Given the description of an element on the screen output the (x, y) to click on. 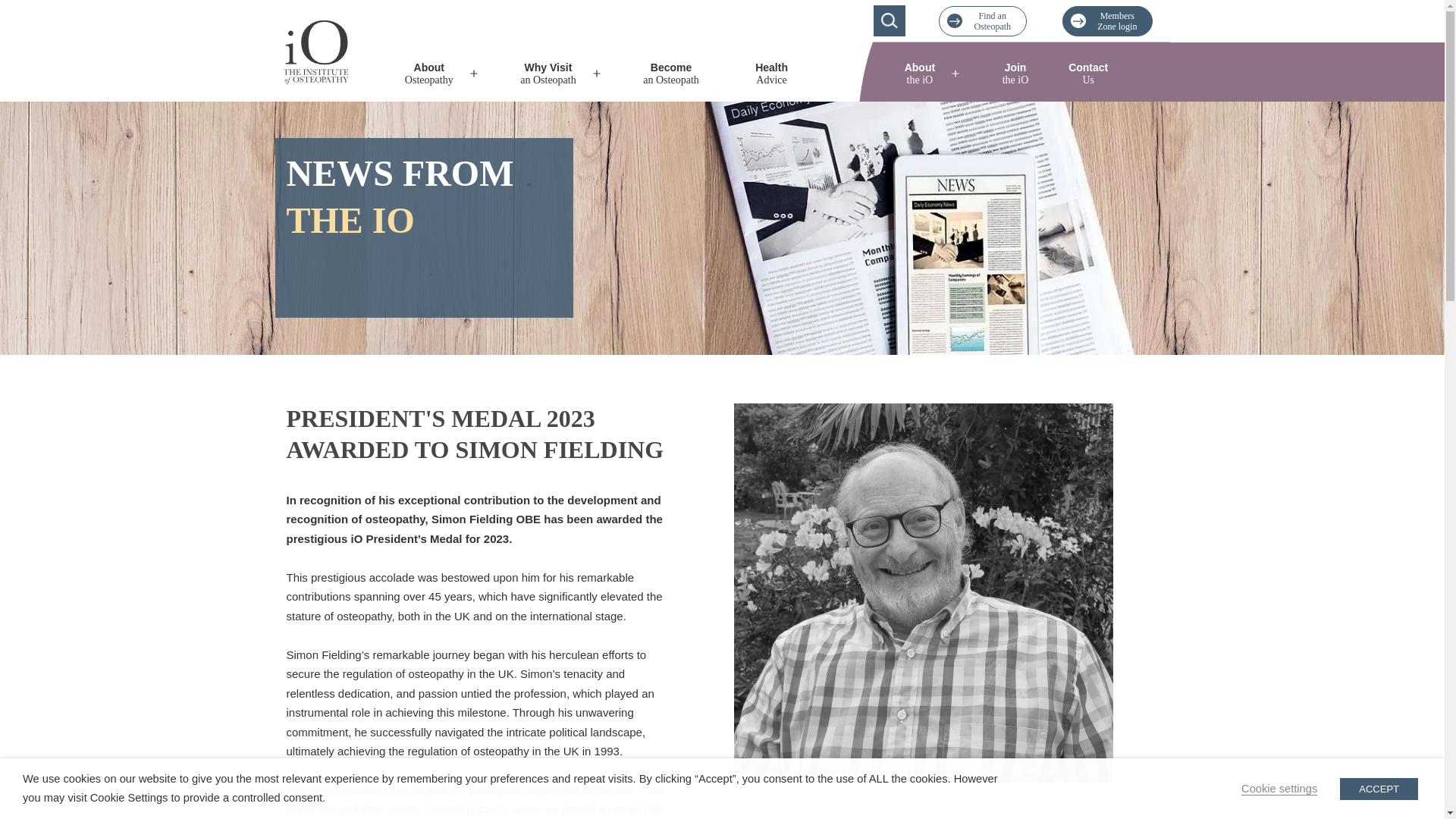
logoIO - Institute of Osteopathy (1107, 20)
Simon Fielding (771, 73)
